Given the description of an element on the screen output the (x, y) to click on. 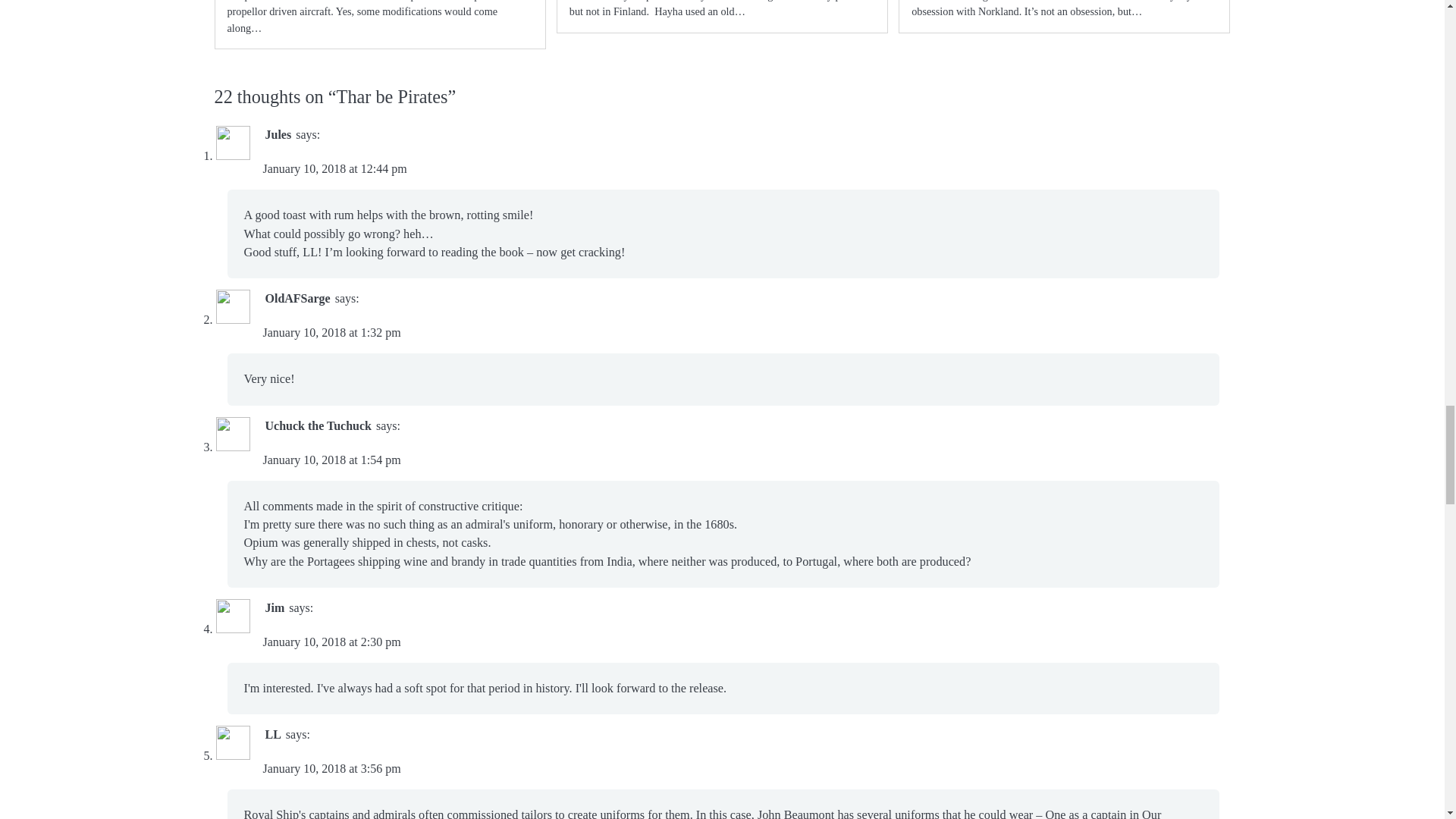
January 10, 2018 at 3:56 pm (331, 768)
January 10, 2018 at 1:32 pm (331, 332)
January 10, 2018 at 2:30 pm (331, 641)
January 10, 2018 at 12:44 pm (334, 168)
January 10, 2018 at 1:54 pm (331, 459)
